Given the description of an element on the screen output the (x, y) to click on. 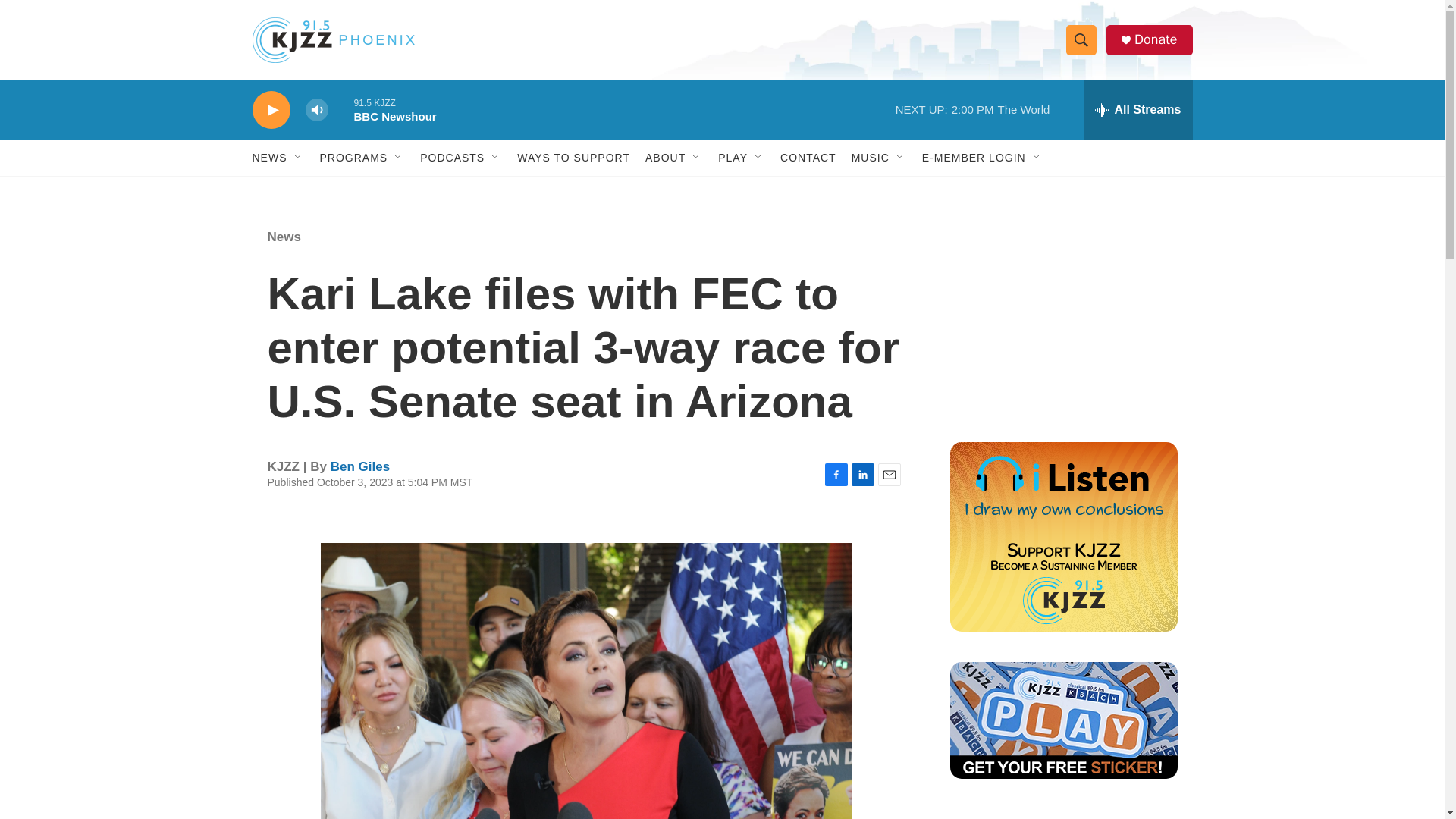
3rd party ad content (1062, 814)
3rd party ad content (1062, 316)
